Given the description of an element on the screen output the (x, y) to click on. 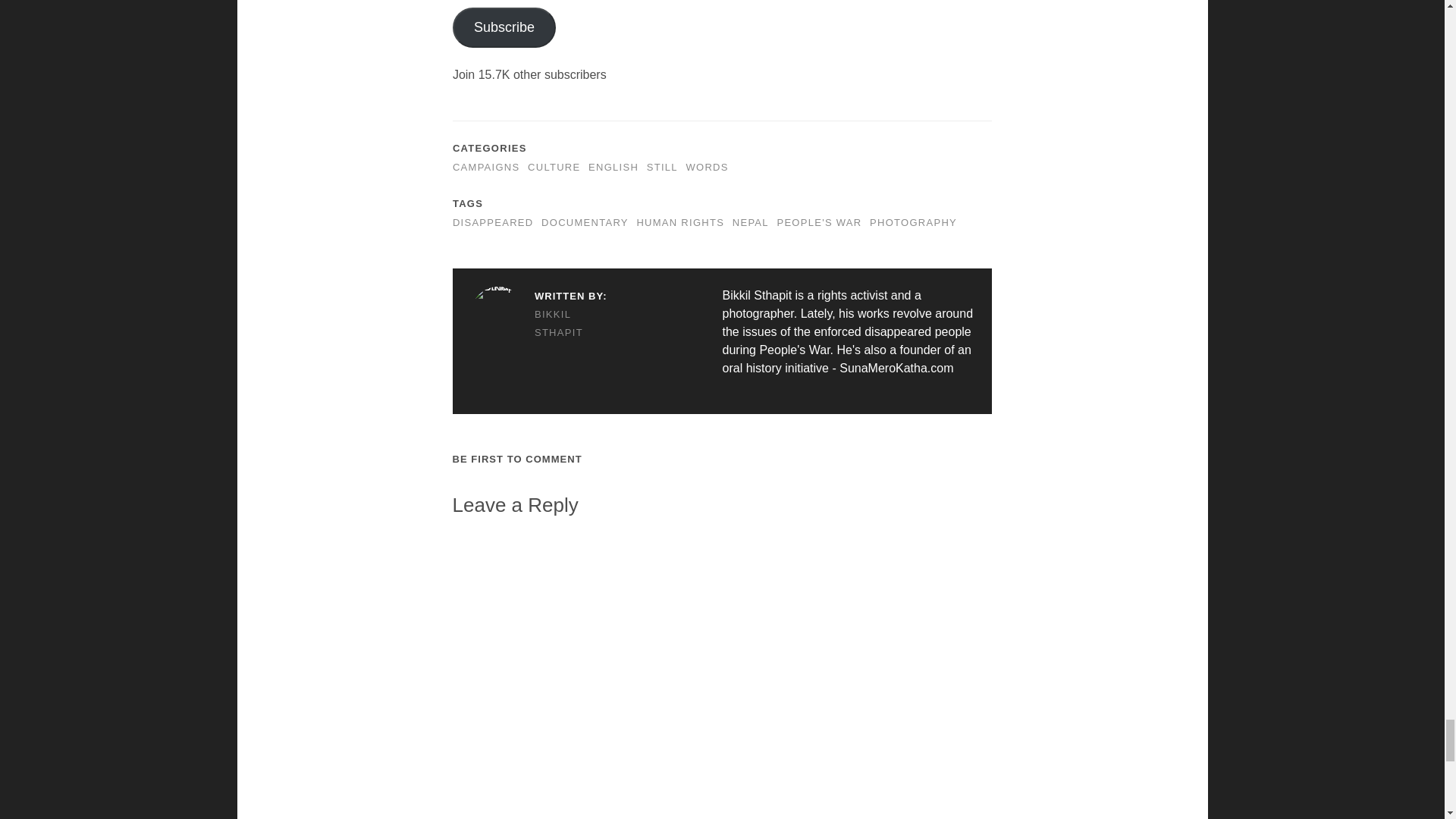
View all posts in Culture (553, 166)
Subscribe (504, 27)
CAMPAIGNS (485, 166)
DISAPPEARED (493, 222)
CULTURE (553, 166)
View all posts in Campaigns (485, 166)
View all posts in English (613, 166)
ENGLISH (613, 166)
STILL (662, 166)
WORDS (706, 166)
